Given the description of an element on the screen output the (x, y) to click on. 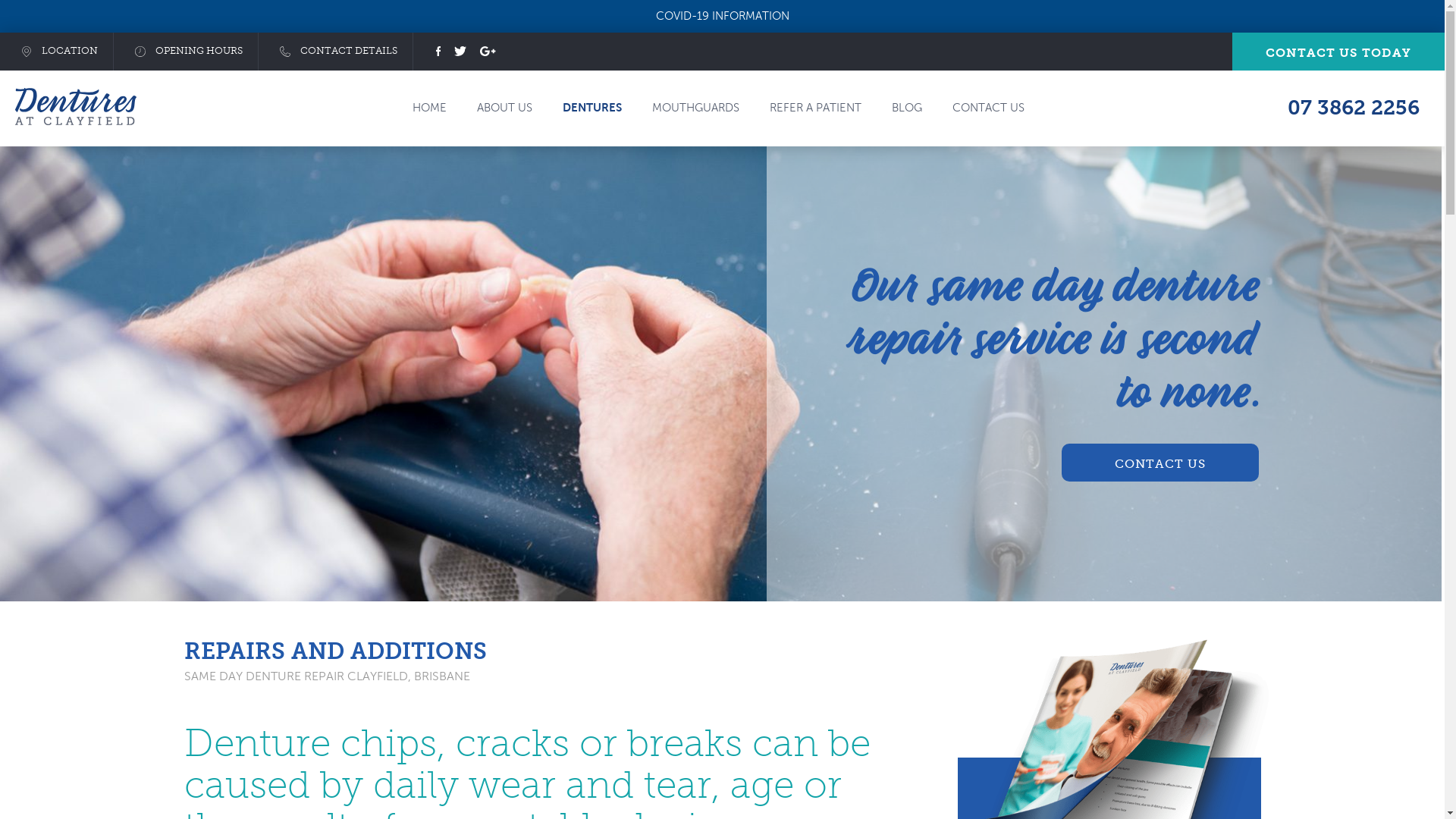
CONTACT US TODAY Element type: text (1338, 50)
CONTACT US Element type: text (1159, 462)
CONTACT US Element type: text (988, 107)
CONTACT DETAILS Element type: text (335, 50)
Twitter Element type: hover (460, 51)
BLOG Element type: text (906, 107)
LOCATION Element type: text (56, 50)
Dentures at Clayfield Logo Element type: text (75, 108)
REFER A PATIENT Element type: text (815, 107)
07 3862 2256 Element type: text (1353, 110)
HOME Element type: text (429, 107)
COVID-19 INFORMATION Element type: text (721, 15)
Facebook Element type: hover (438, 51)
Google Plus Element type: hover (487, 51)
DENTURES Element type: text (591, 107)
ABOUT US Element type: text (504, 107)
OPENING HOURS Element type: text (185, 50)
MOUTHGUARDS Element type: text (695, 107)
